Given the description of an element on the screen output the (x, y) to click on. 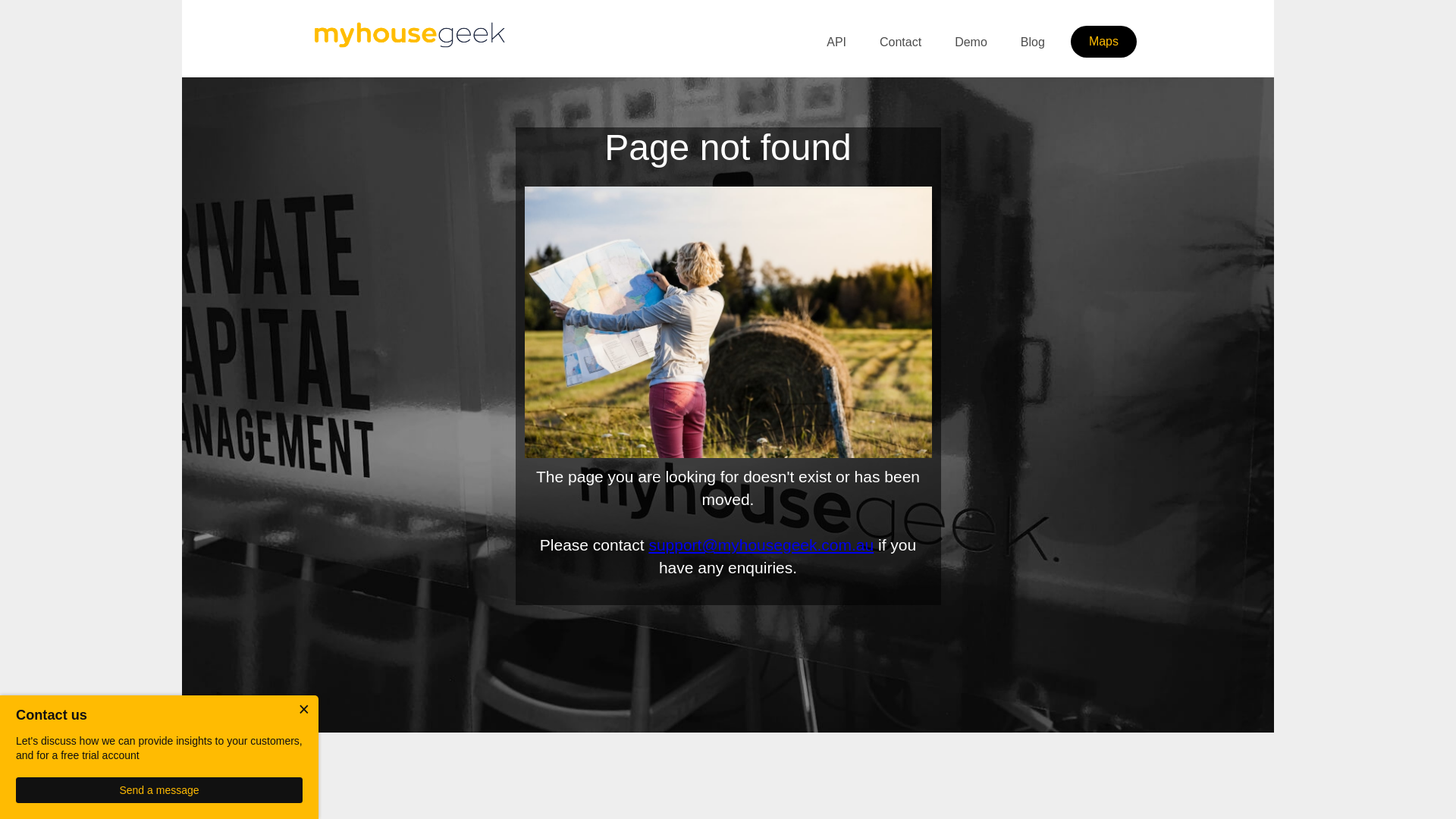
support@myhousegeek.com.au Element type: text (760, 544)
API Element type: text (836, 42)
Maps Element type: text (1103, 41)
Send a message Element type: text (158, 790)
Blog Element type: text (1032, 42)
Contact Element type: text (900, 42)
Demo Element type: text (970, 42)
